Given the description of an element on the screen output the (x, y) to click on. 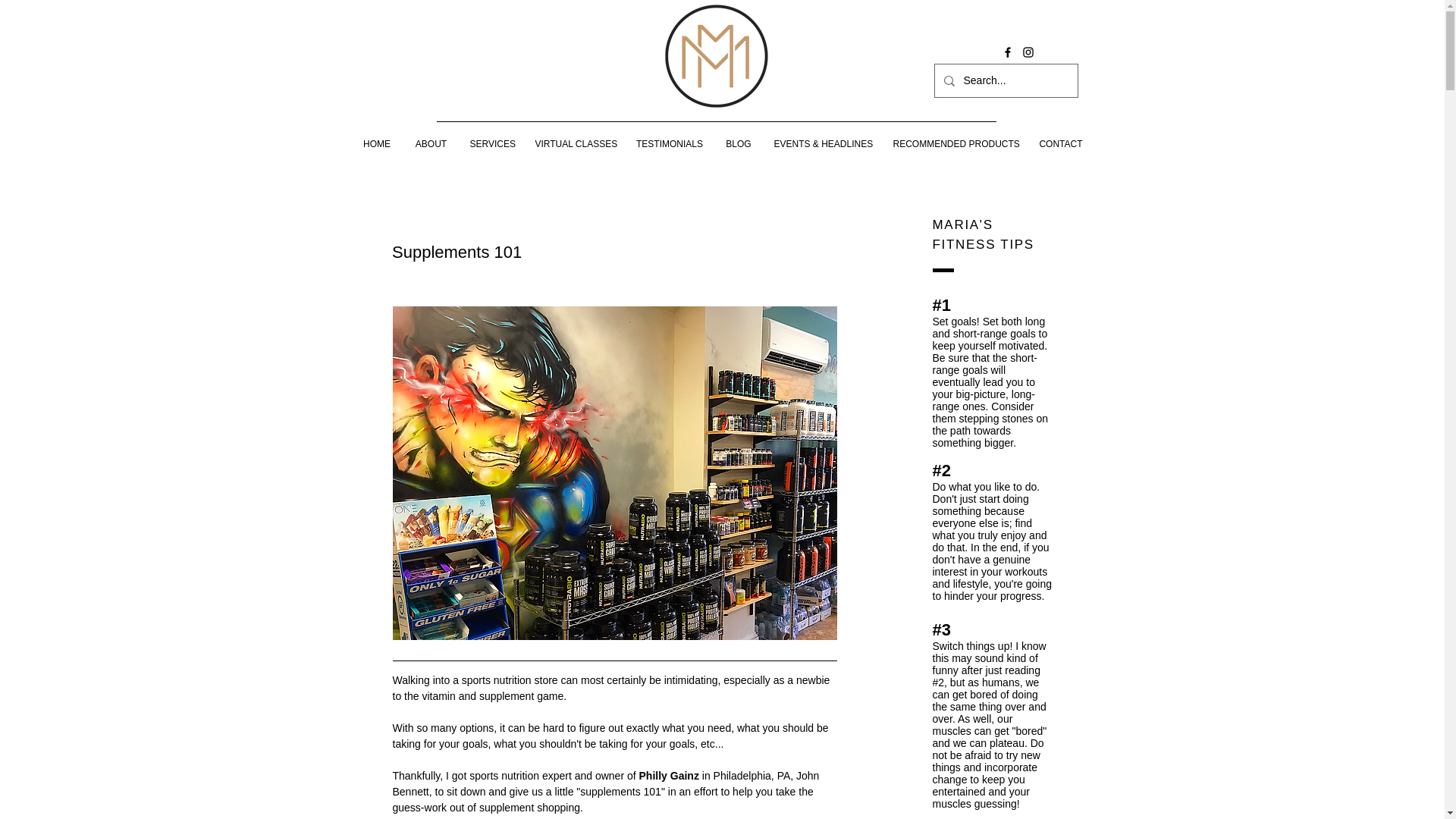
VIRTUAL CLASSES (575, 144)
SERVICES (492, 144)
HOME (376, 144)
ABOUT (431, 144)
RECOMMENDED PRODUCTS (954, 144)
CONTACT (1060, 144)
TESTIMONIALS (668, 144)
BLOG (738, 144)
